Given the description of an element on the screen output the (x, y) to click on. 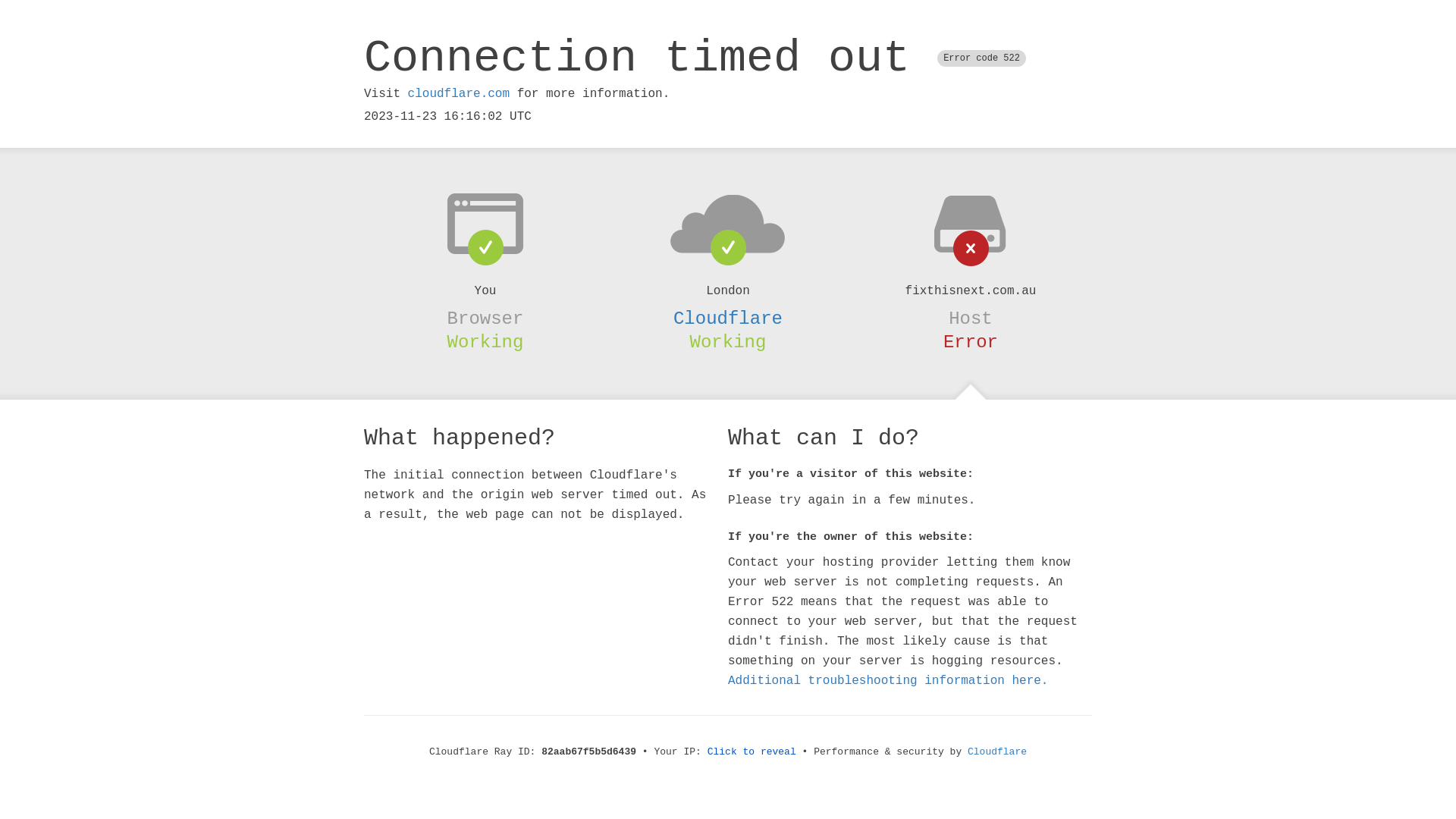
cloudflare.com Element type: text (458, 93)
Cloudflare Element type: text (996, 751)
Click to reveal Element type: text (751, 751)
Additional troubleshooting information here. Element type: text (888, 680)
Cloudflare Element type: text (727, 318)
